Given the description of an element on the screen output the (x, y) to click on. 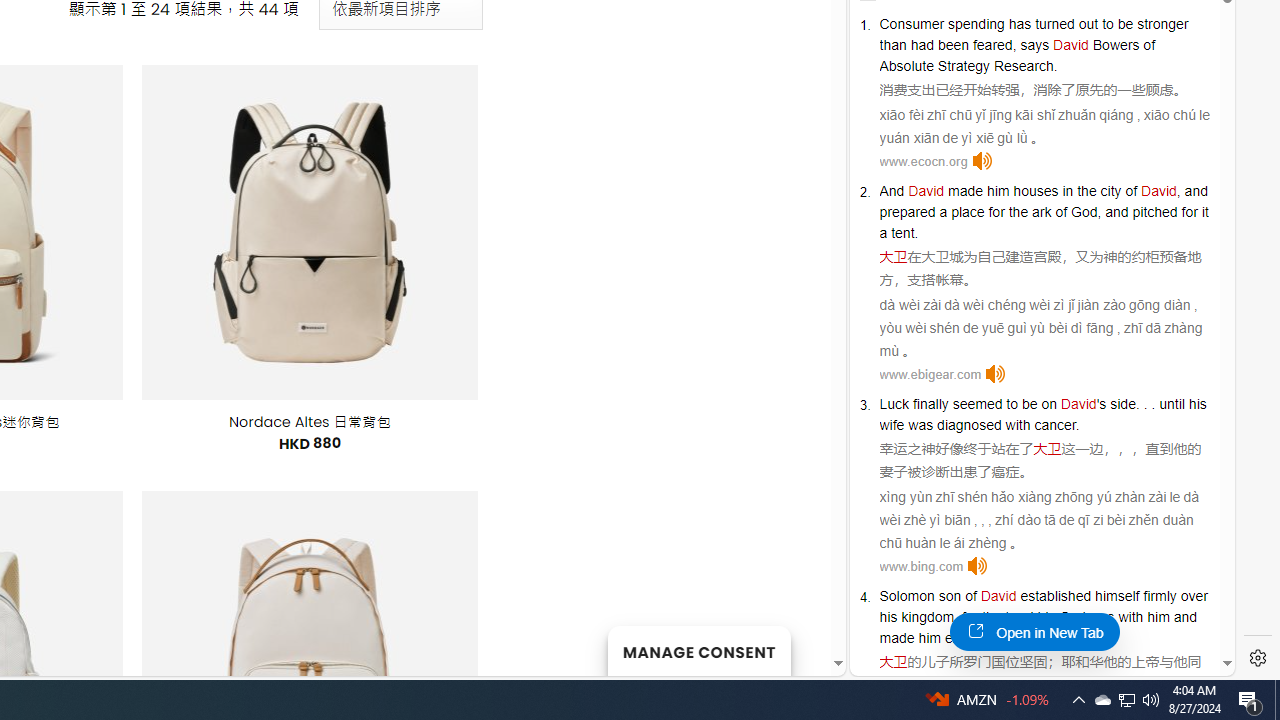
, (955, 616)
God (1071, 616)
